Given the description of an element on the screen output the (x, y) to click on. 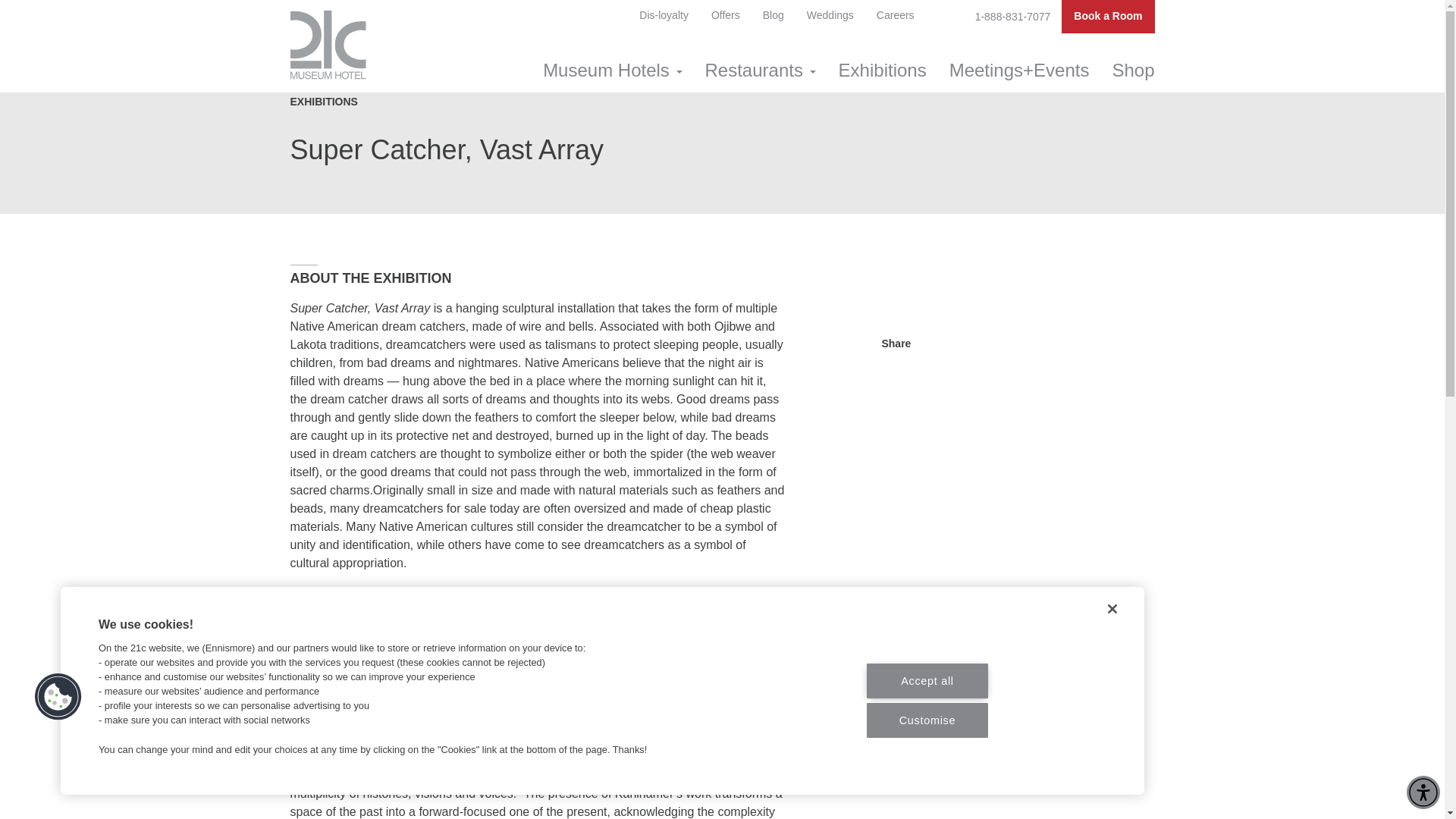
Accessibility Menu (1422, 792)
Cookies Button (57, 696)
Museum Hotels (612, 70)
